Given the description of an element on the screen output the (x, y) to click on. 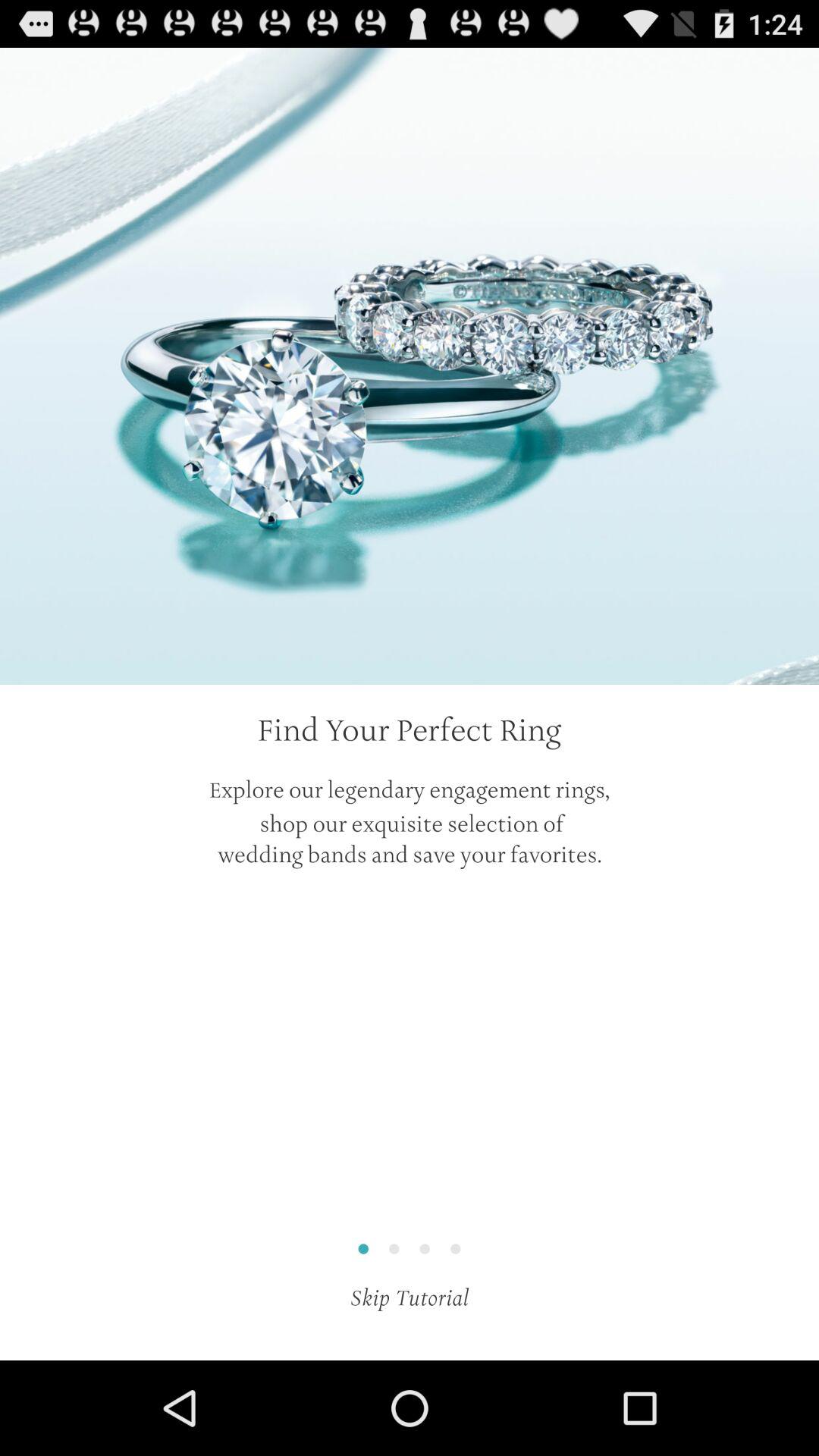
turn on skip tutorial item (409, 1297)
